Given the description of an element on the screen output the (x, y) to click on. 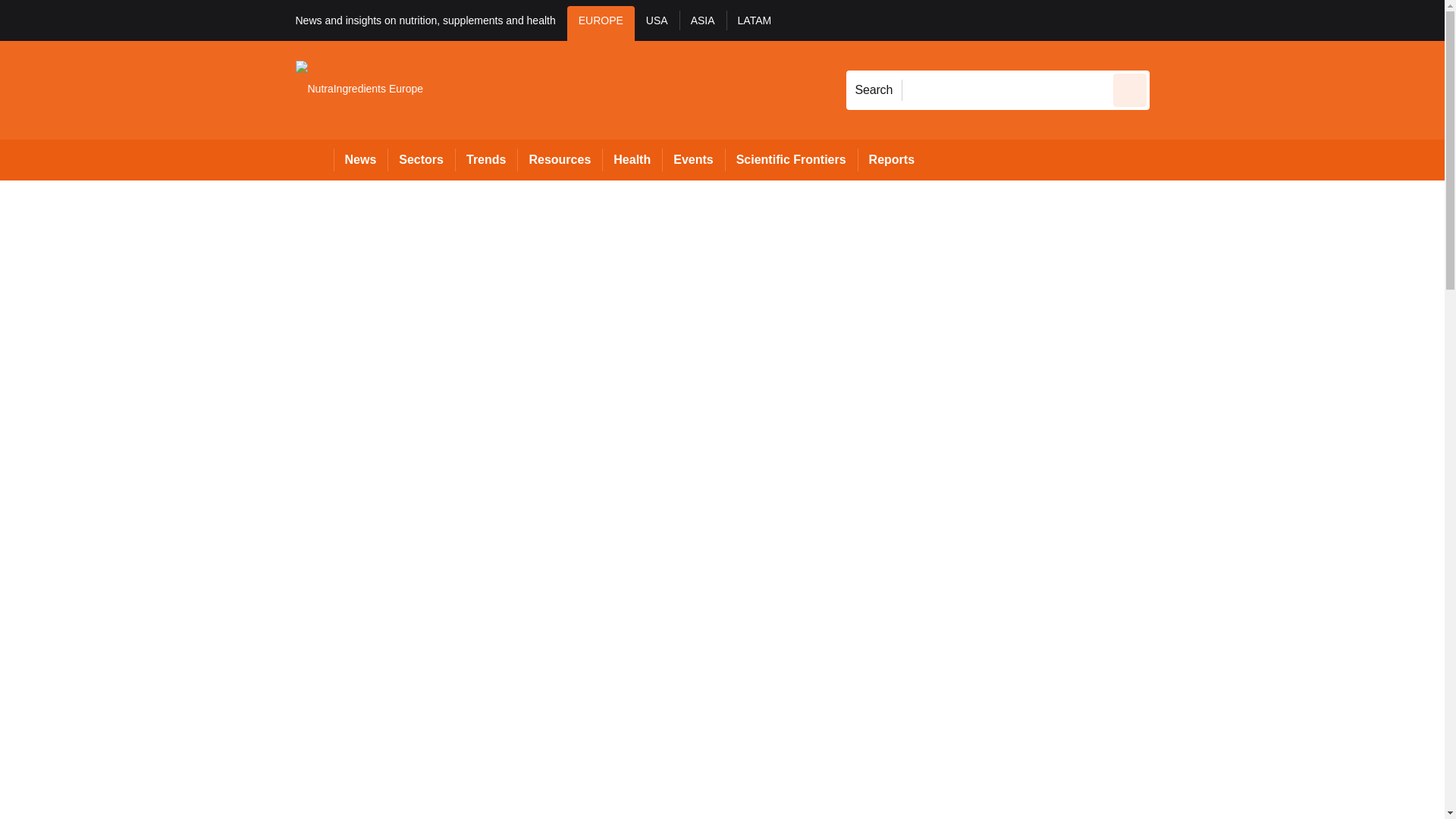
SUBSCRIBE (1318, 20)
Send (1129, 90)
USA (656, 22)
Send (1129, 89)
News (360, 159)
Sign out (1174, 20)
Sectors (420, 159)
Sign in (1171, 20)
Home (314, 159)
EUROPE (600, 22)
